Given the description of an element on the screen output the (x, y) to click on. 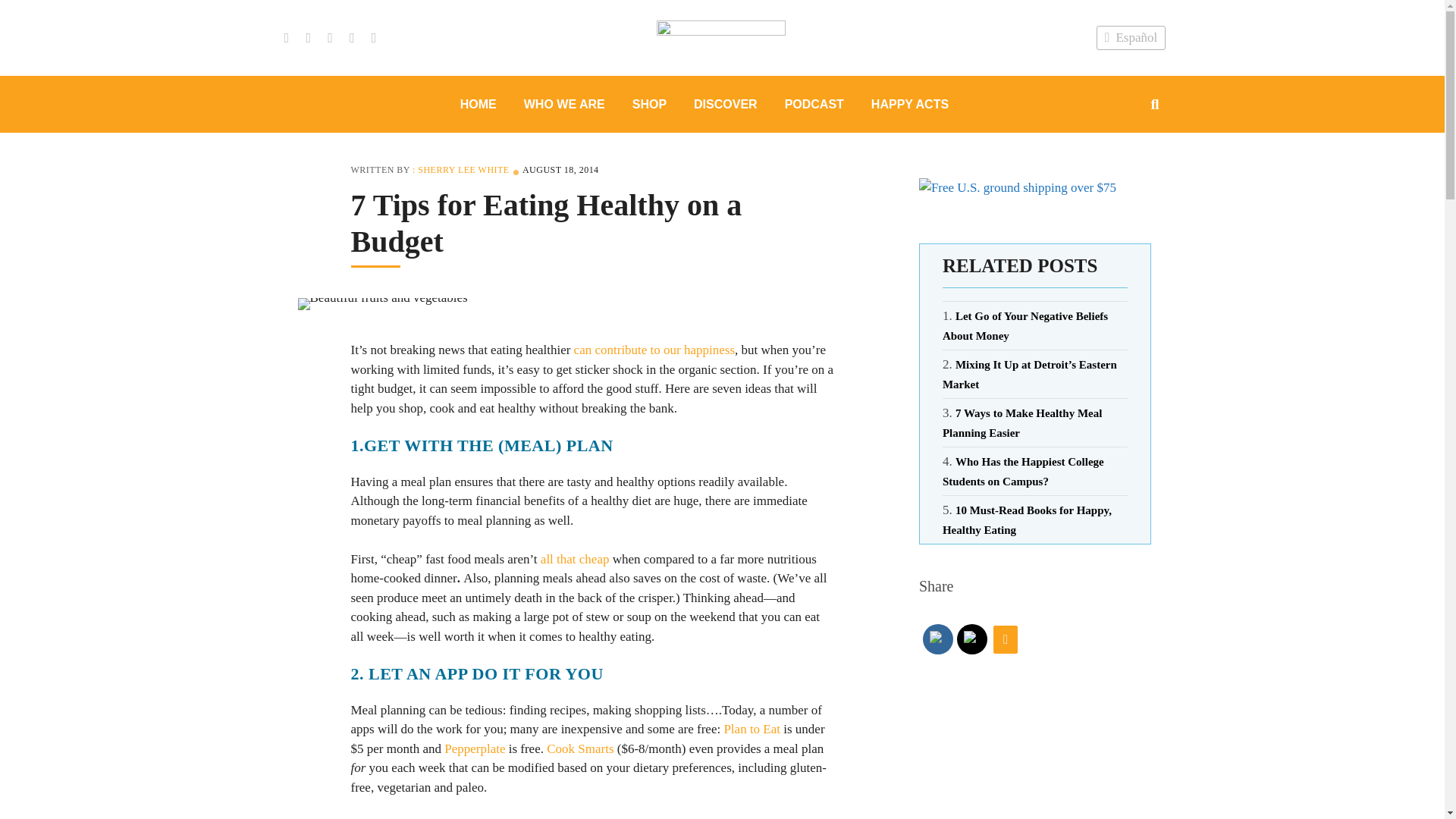
PODCAST (814, 103)
Twitter (971, 638)
WHO WE ARE (564, 103)
Facebook (938, 638)
HAPPY ACTS (909, 103)
SHOP (648, 103)
HOME (478, 103)
DISCOVER (725, 103)
